Given the description of an element on the screen output the (x, y) to click on. 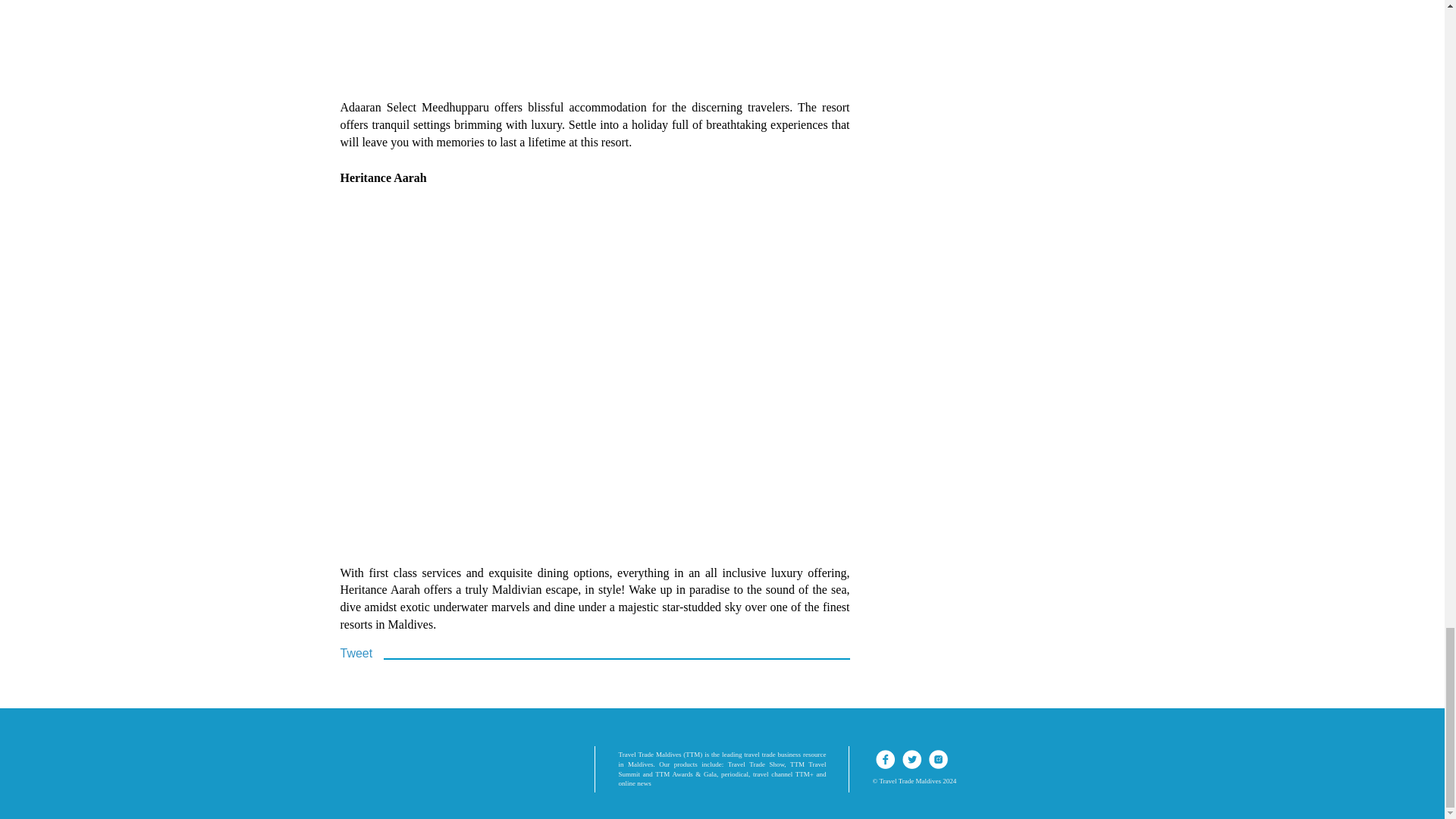
Tweet (355, 653)
